Given the description of an element on the screen output the (x, y) to click on. 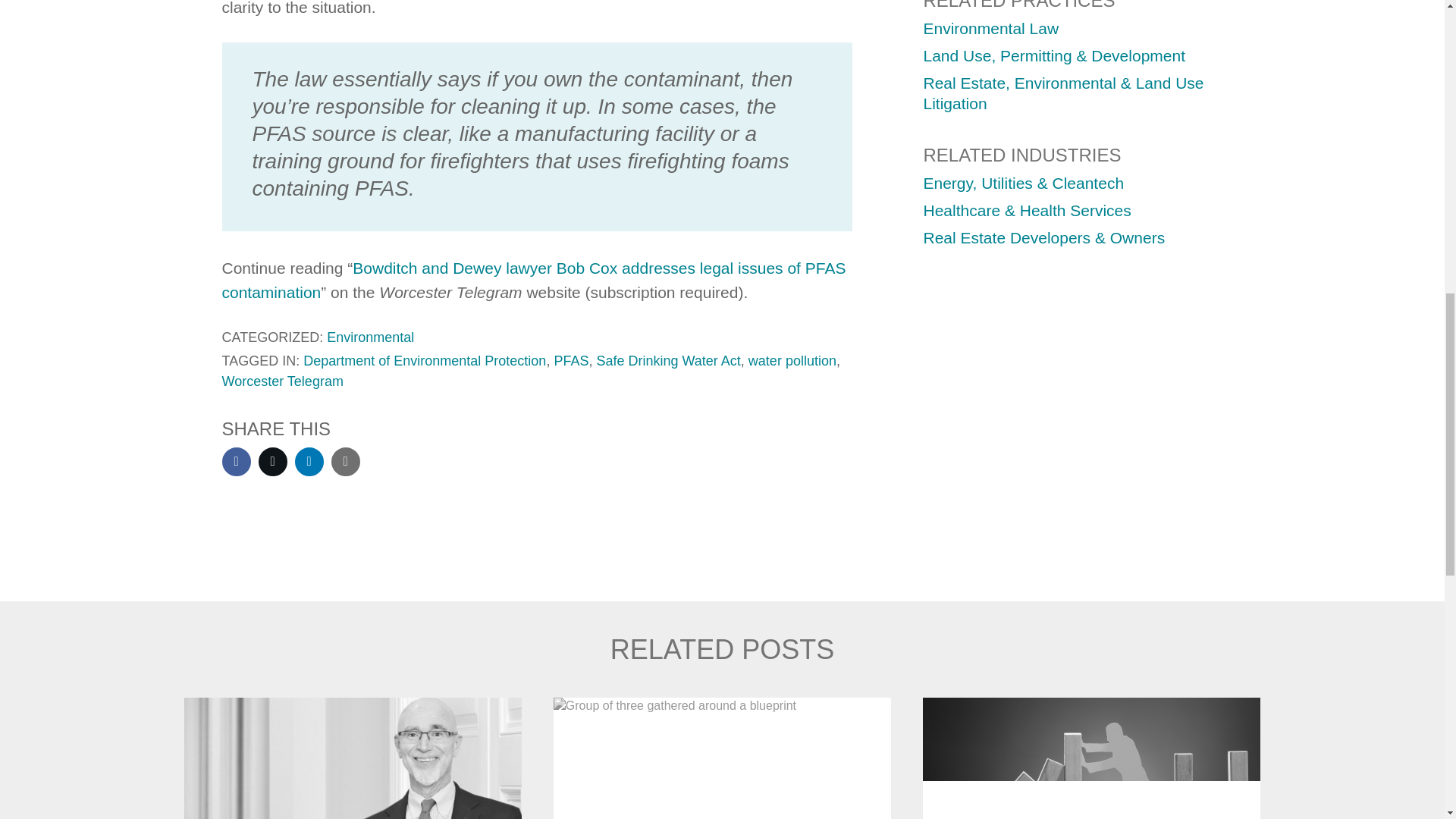
Environmental Law (991, 27)
Worcester Telegram (281, 381)
Department of Environmental Protection (424, 360)
Environmental (369, 337)
PFAS (570, 360)
Safe Drinking Water Act (667, 360)
water pollution (791, 360)
